Given the description of an element on the screen output the (x, y) to click on. 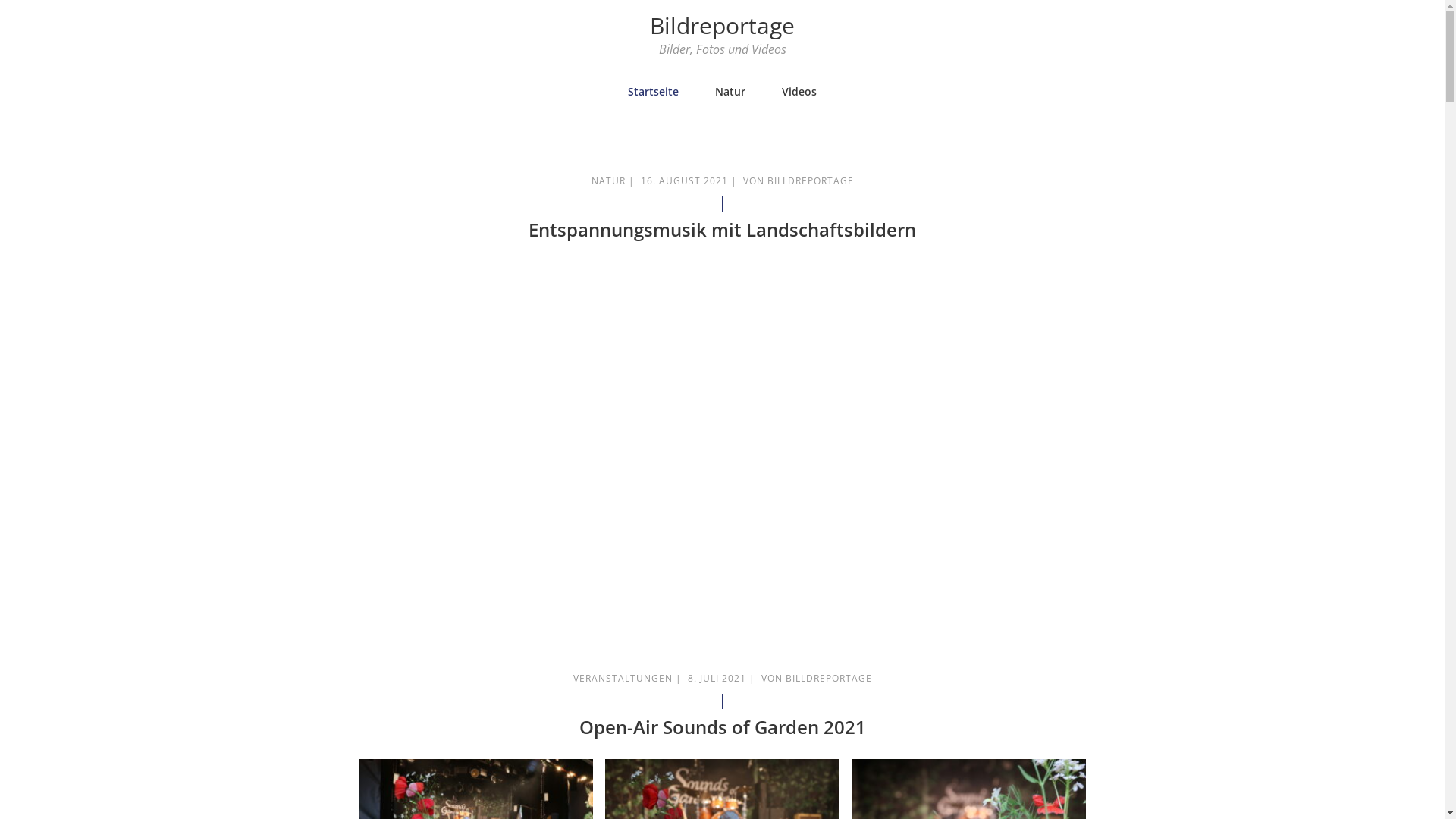
8. JULI 2021 Element type: text (716, 677)
Bildreportage Element type: text (721, 24)
Entspannungsmusik mit Landschaftsbildern Element type: text (722, 228)
NATUR Element type: text (608, 180)
16. AUGUST 2021 Element type: text (683, 180)
BILLDREPORTAGE Element type: text (828, 677)
Relaxing Piano Music - with landscapes Element type: hover (721, 431)
BILLDREPORTAGE Element type: text (810, 180)
Open-Air Sounds of Garden 2021 Element type: text (722, 726)
VERANSTALTUNGEN Element type: text (622, 677)
Startseite Element type: text (652, 91)
Videos Element type: text (798, 91)
Natur Element type: text (729, 91)
